Given the description of an element on the screen output the (x, y) to click on. 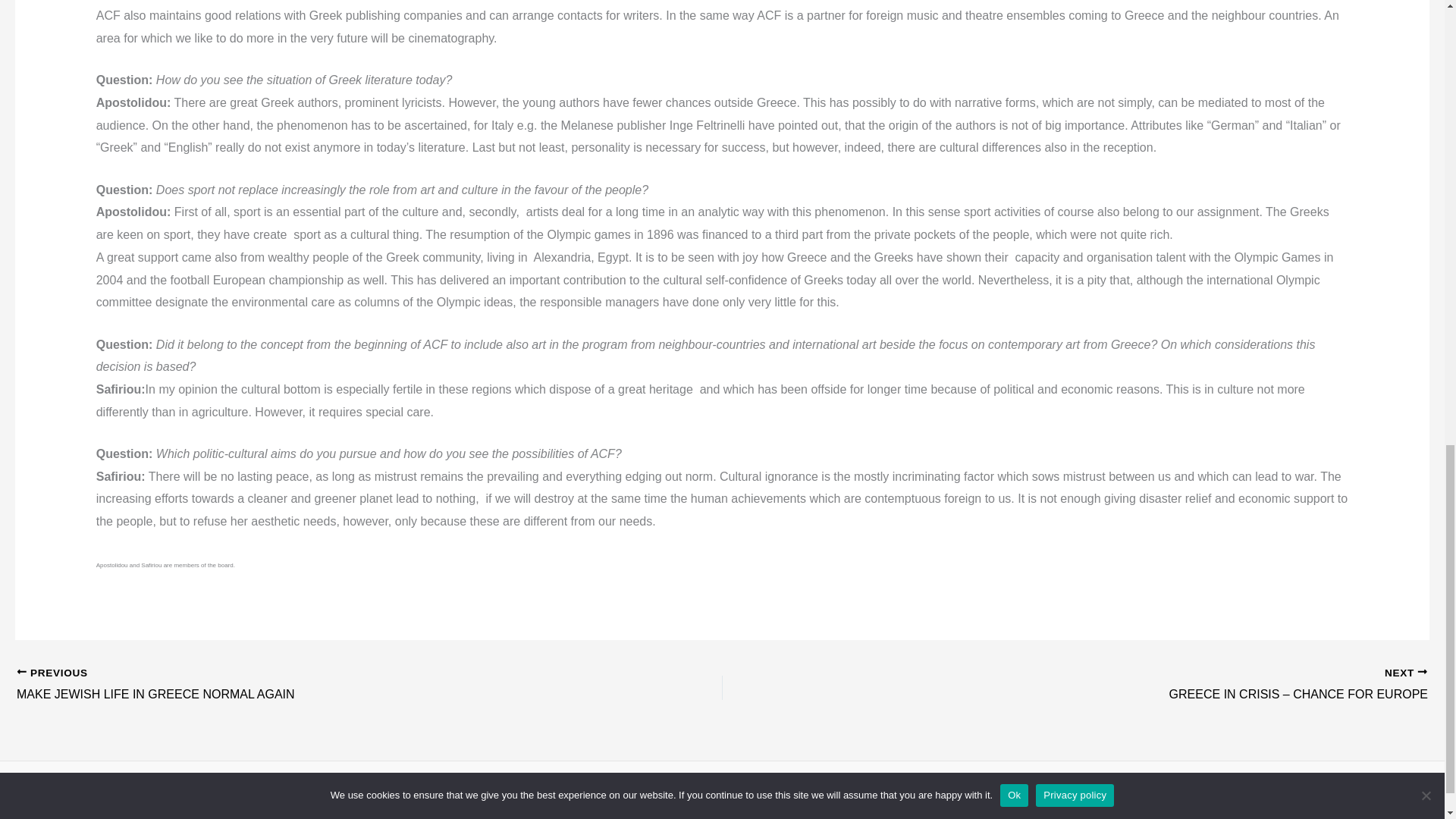
Private poloicy (1059, 806)
Imprint (995, 806)
MAKE JEWISH LIFE IN GREECE NORMAL AGAIN (299, 685)
